Given the description of an element on the screen output the (x, y) to click on. 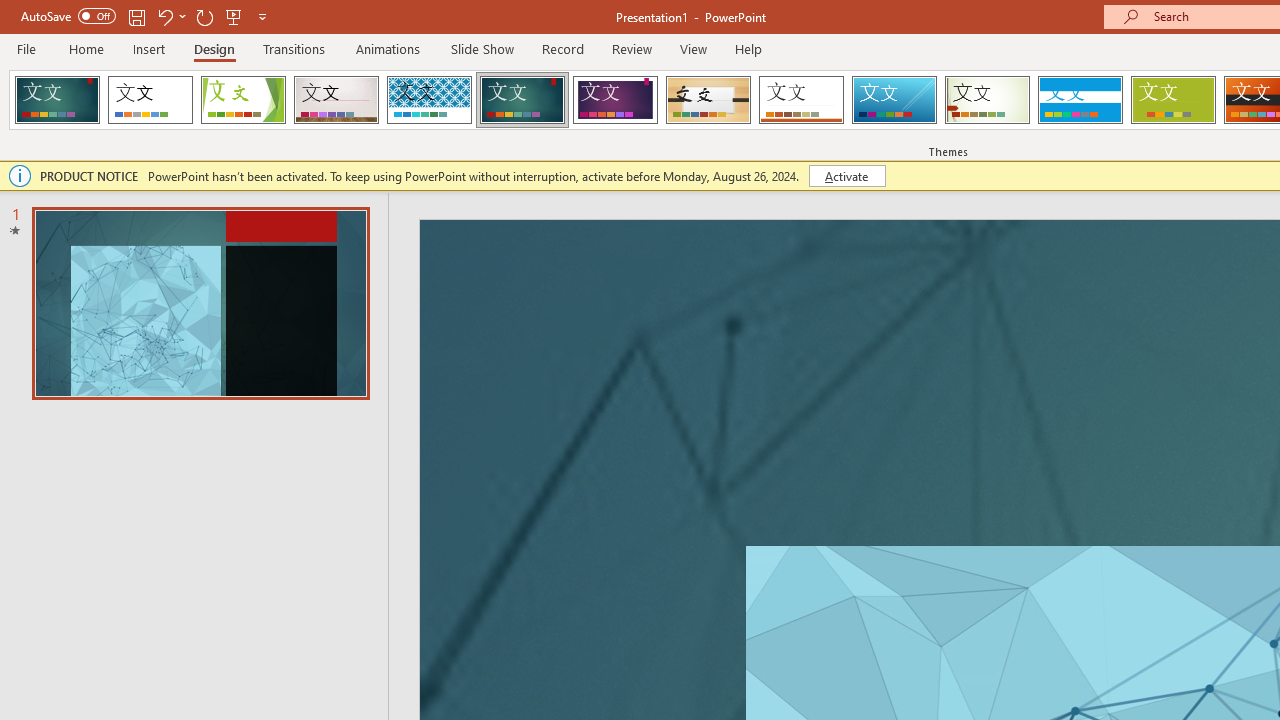
Ion Boardroom (615, 100)
Slice (893, 100)
Organic (708, 100)
